Given the description of an element on the screen output the (x, y) to click on. 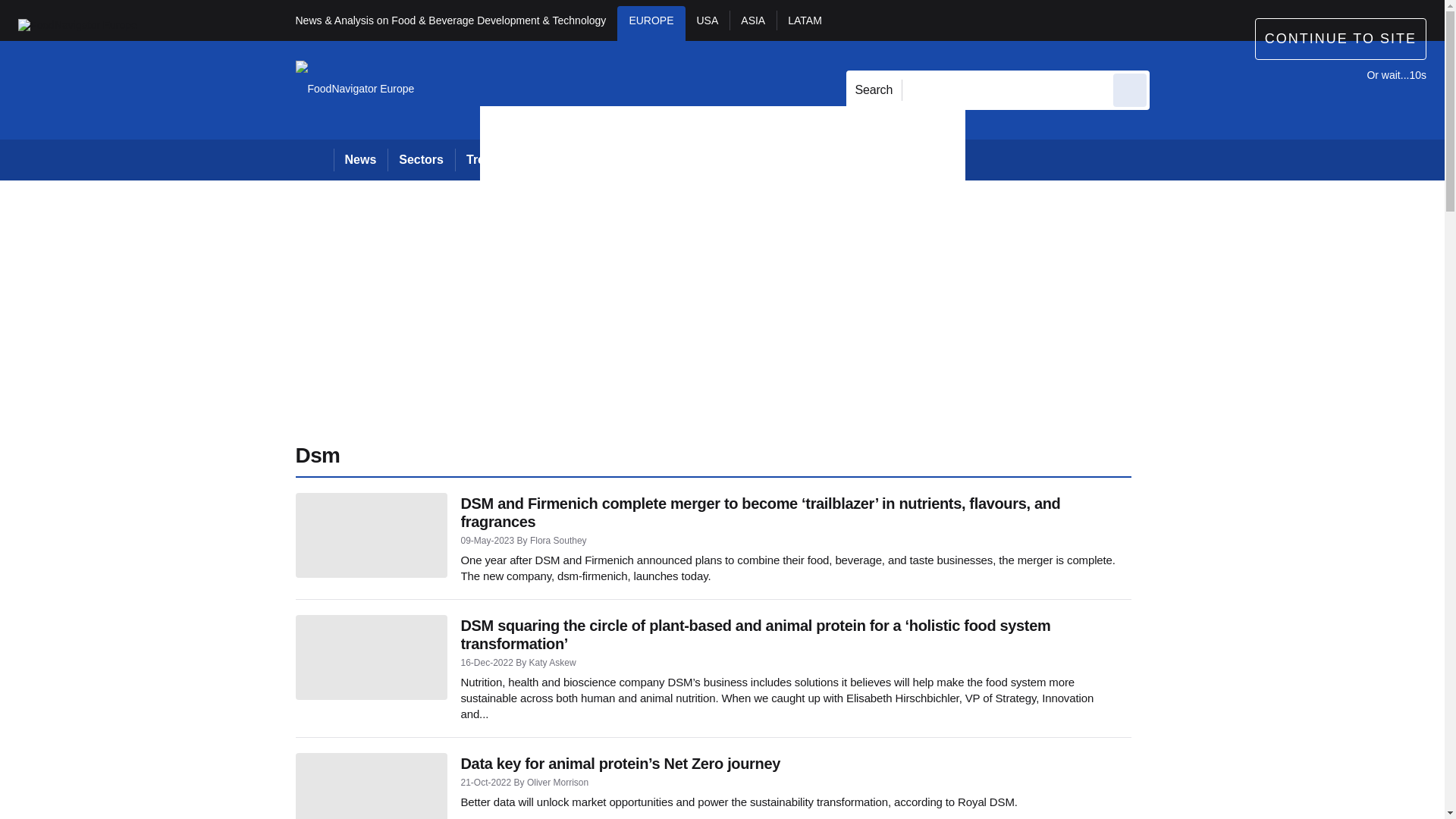
Sign out (1174, 20)
View full article (370, 785)
REGISTER (1250, 20)
View full article (370, 535)
News (360, 159)
EUROPE (650, 22)
Send (1129, 90)
Home (313, 159)
USA (707, 22)
CONTINUE TO SITE (1340, 38)
FoodNavigator Europe (76, 24)
ASIA (752, 22)
My account (1256, 20)
Send (1129, 89)
